Given the description of an element on the screen output the (x, y) to click on. 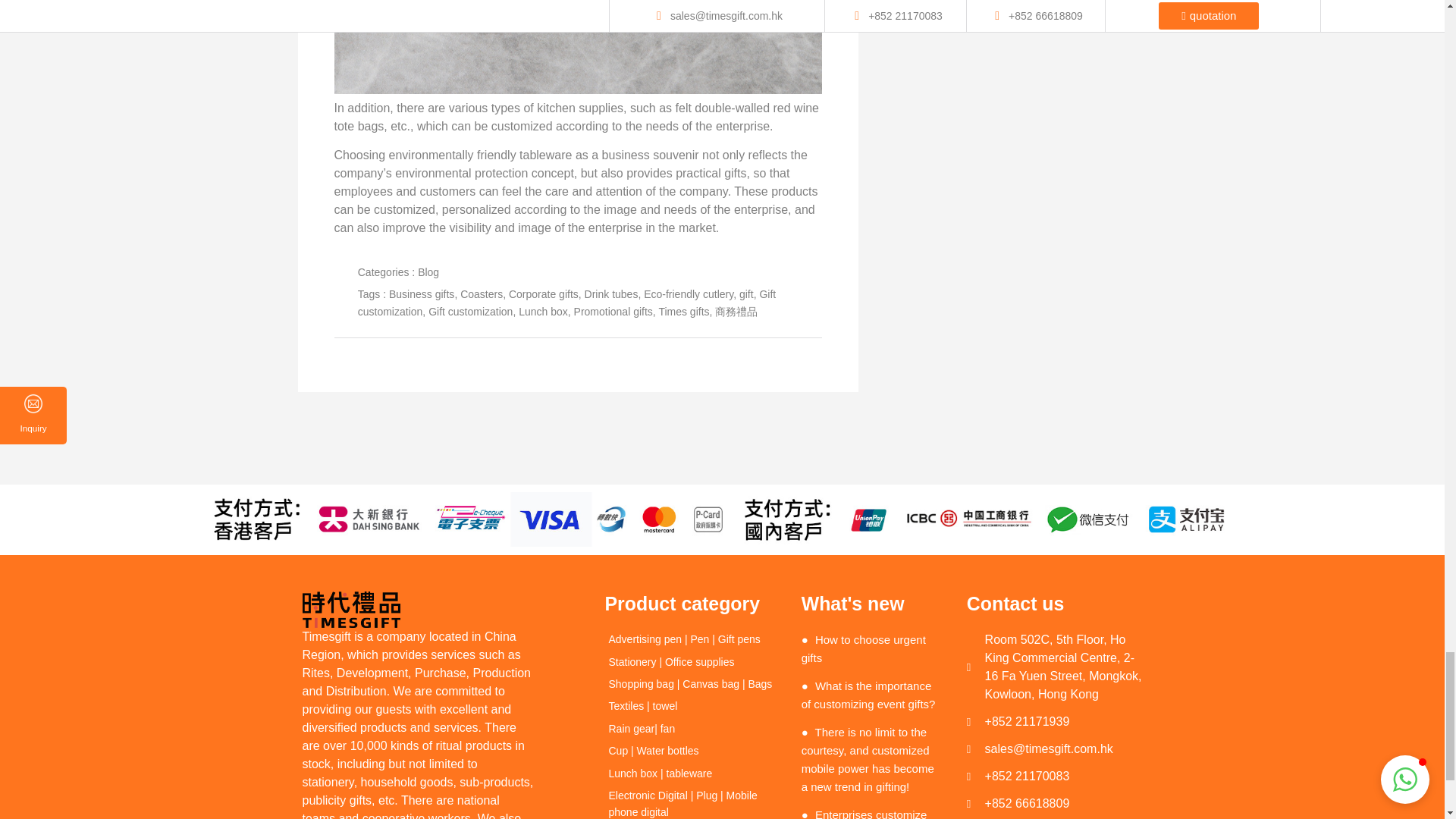
Contact us (1054, 603)
What's new (872, 603)
Product category (691, 603)
